Given the description of an element on the screen output the (x, y) to click on. 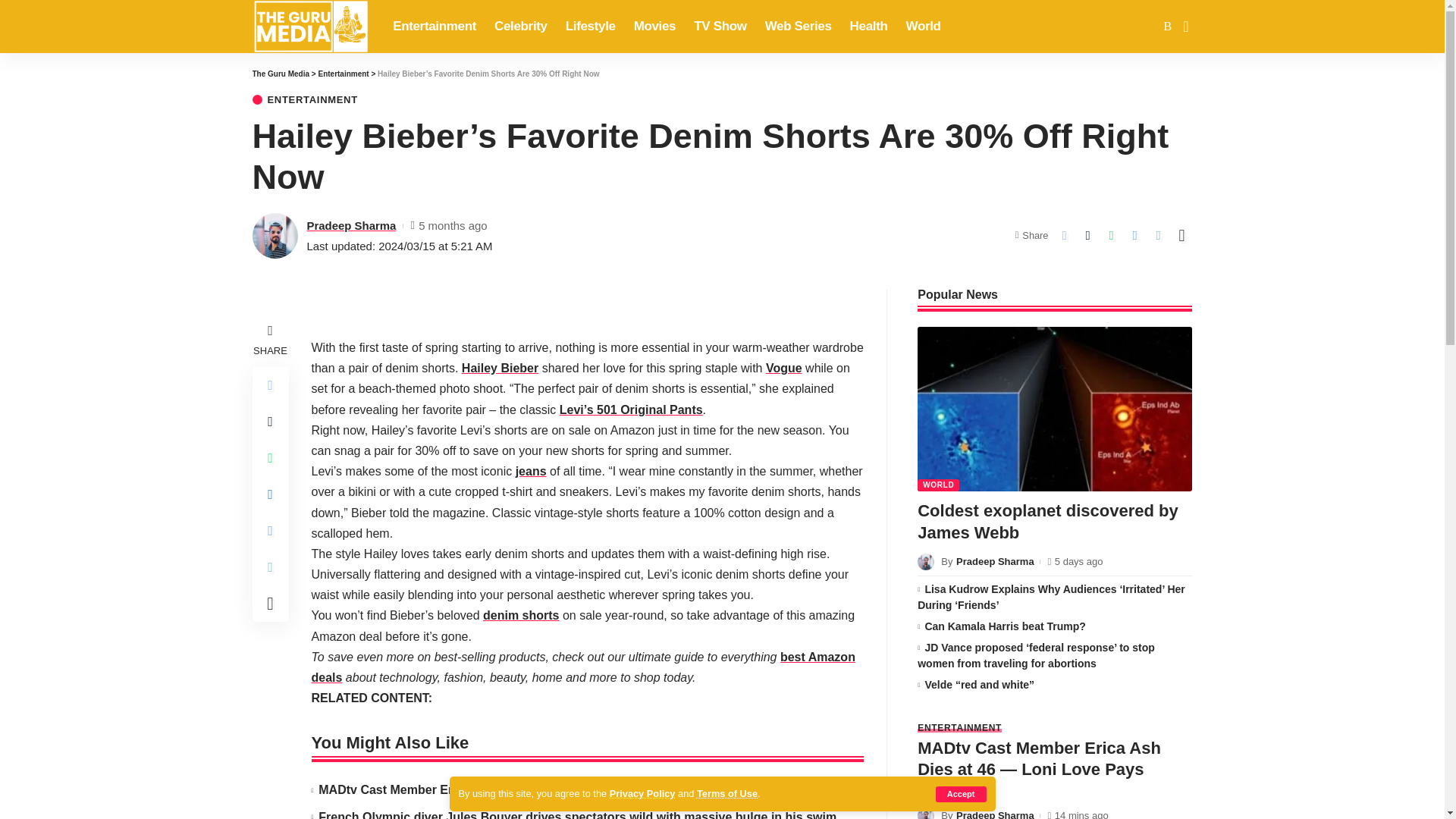
World (923, 26)
Go to the Entertainment Category archives. (342, 73)
TV Show (719, 26)
Movies (654, 26)
Coldest exoplanet discovered by James Webb (1054, 408)
The Guru Media (309, 26)
Health (868, 26)
Celebrity (520, 26)
Levi's 501 Original Shorts (631, 409)
Web Series (798, 26)
Accept (961, 794)
Entertainment (434, 26)
Go to The Guru Media. (279, 73)
Lifestyle (590, 26)
Privacy Policy (642, 793)
